Given the description of an element on the screen output the (x, y) to click on. 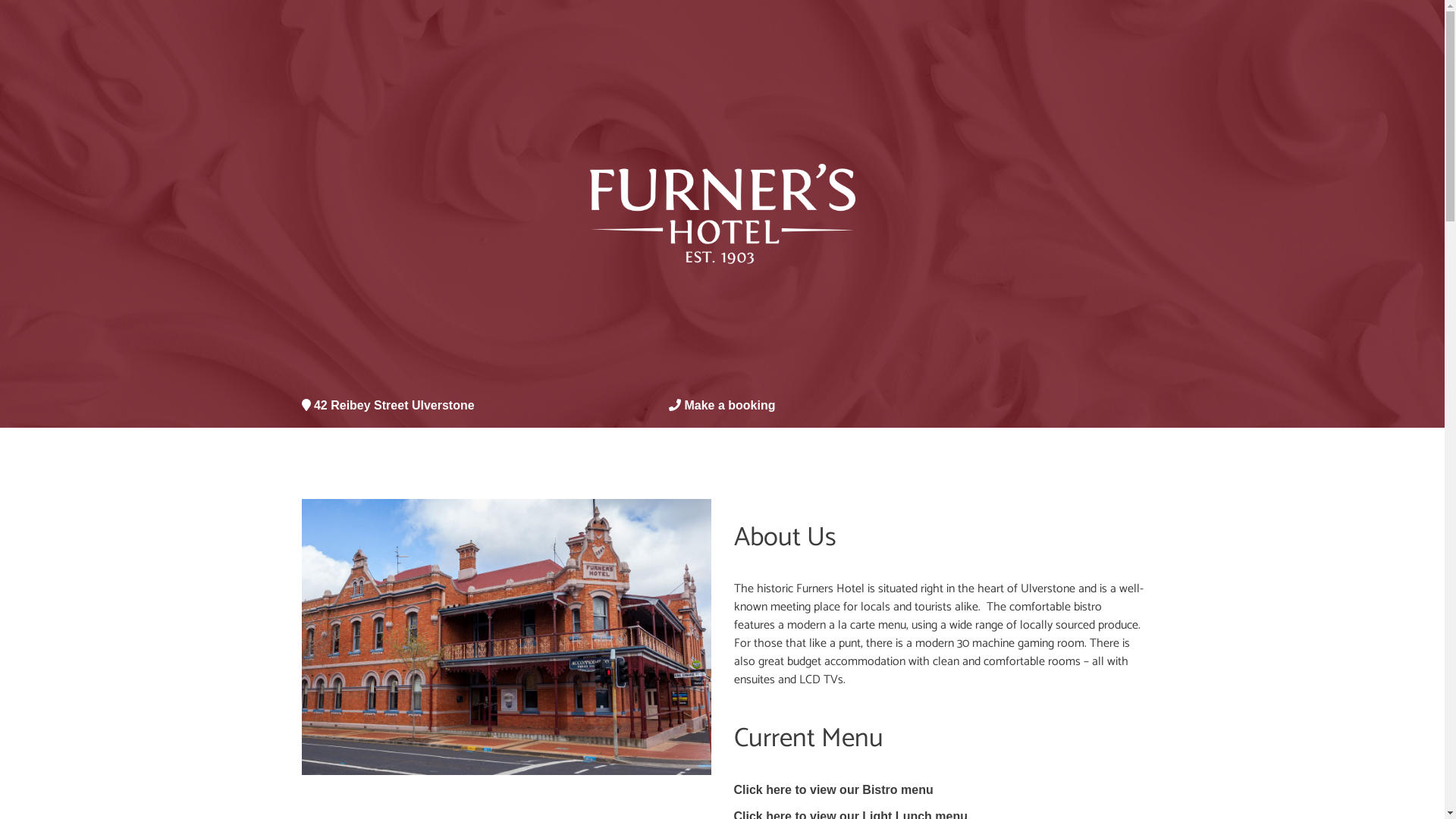
Make a booking Element type: text (729, 404)
Facebook Element type: hover (1136, 405)
42 Reibey Street Ulverstone Element type: text (387, 404)
Click here to view our Bistro menu Element type: text (833, 789)
